Given the description of an element on the screen output the (x, y) to click on. 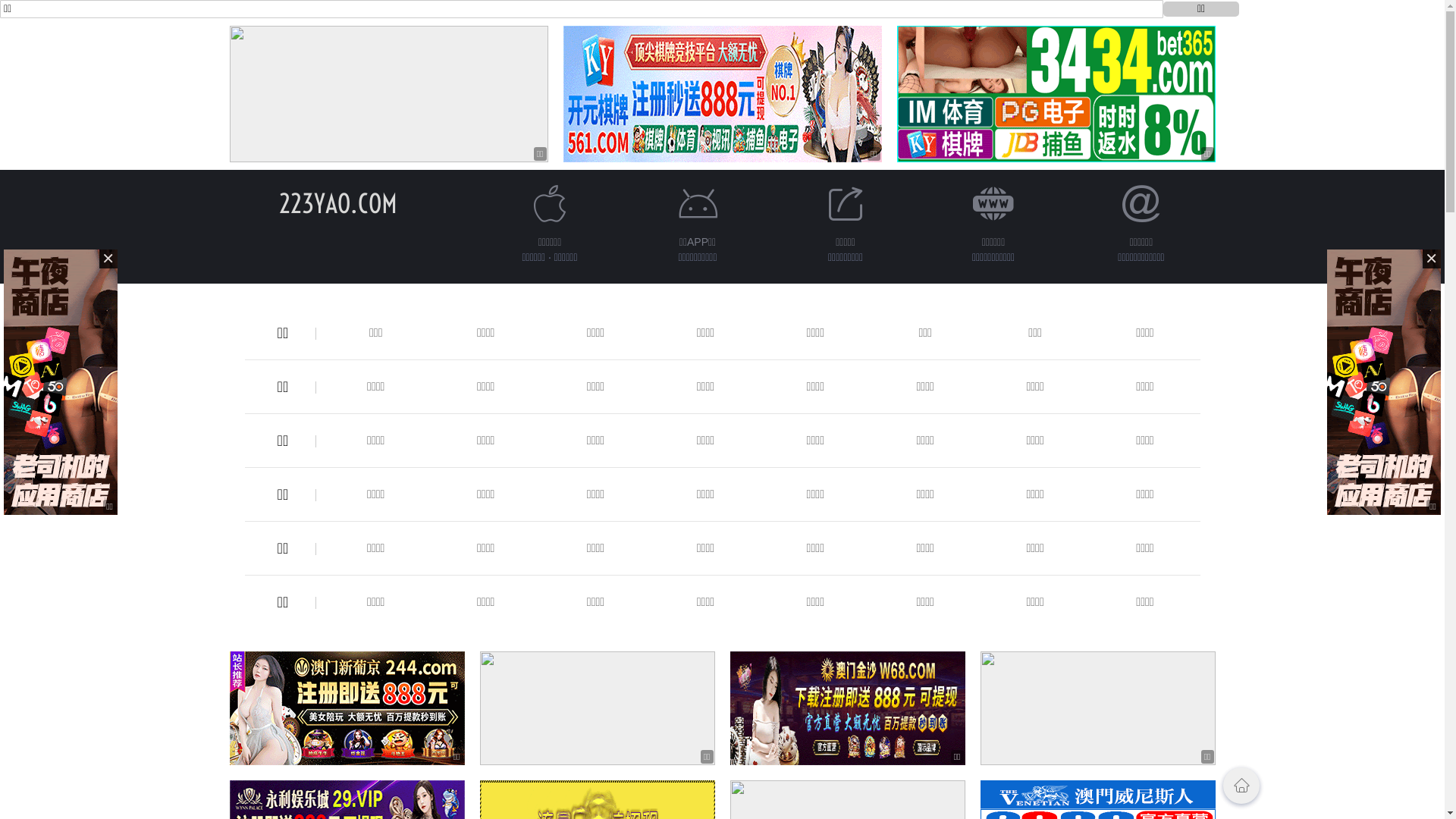
223YAO.COM Element type: text (338, 203)
